Given the description of an element on the screen output the (x, y) to click on. 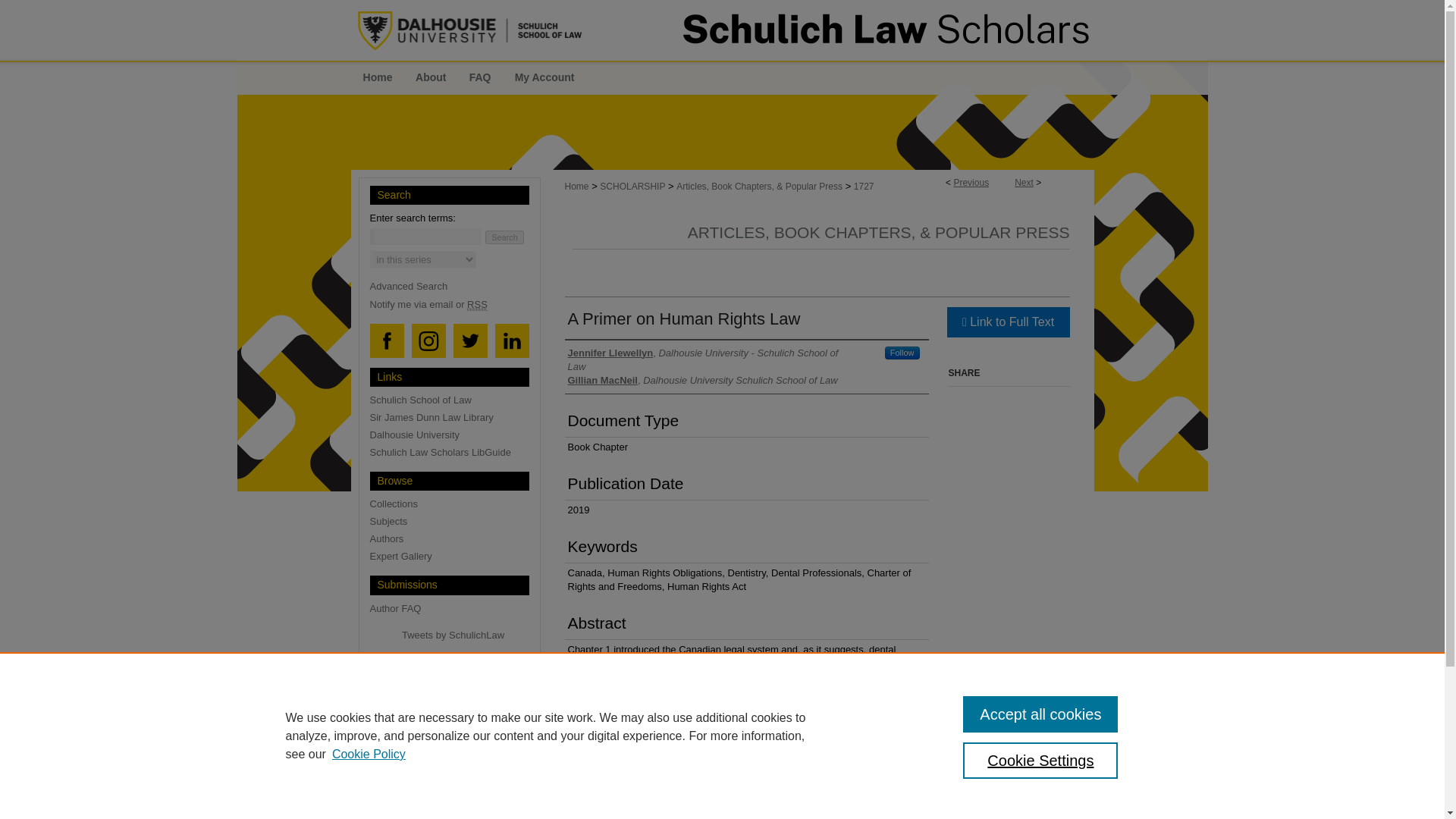
My Account (544, 77)
1727 (864, 185)
Search (504, 237)
SCHOLARSHIP (632, 185)
Really Simple Syndication (477, 304)
Follow Jennifer Llewellyn (902, 351)
Link to Full Text (1007, 321)
Sir James Dunn Law Library (454, 417)
Search (504, 237)
Schulich School of Law Instagram (428, 341)
Search (504, 237)
Follow (902, 351)
Previous (970, 182)
FAQ (480, 77)
Email or RSS Notifications (454, 304)
